Given the description of an element on the screen output the (x, y) to click on. 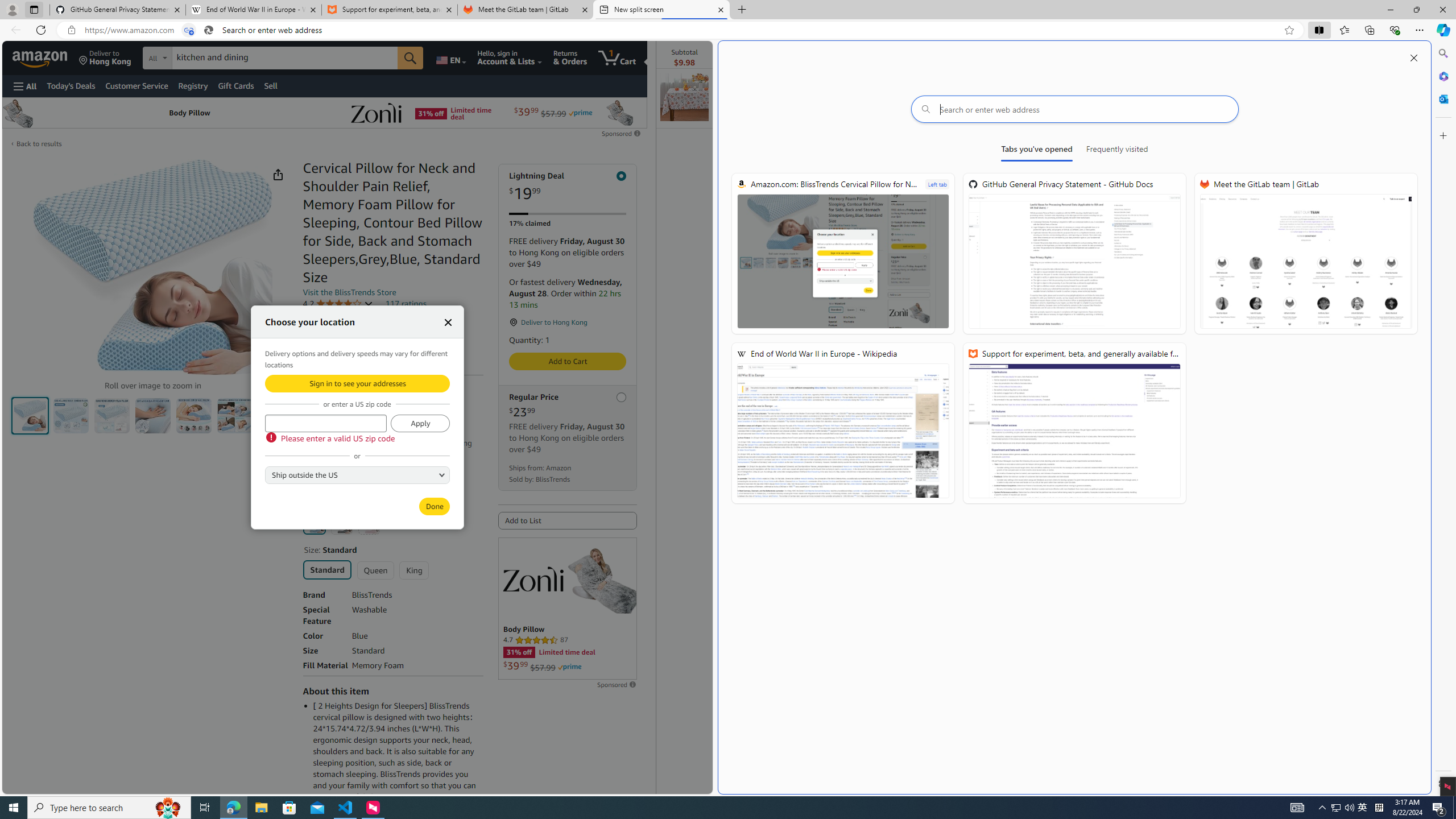
Amazon (40, 57)
Search in (199, 58)
Blue (314, 522)
Details  (341, 454)
Shop items (327, 481)
Add to List (567, 520)
Close split screen (1413, 57)
Sell (270, 85)
